Given the description of an element on the screen output the (x, y) to click on. 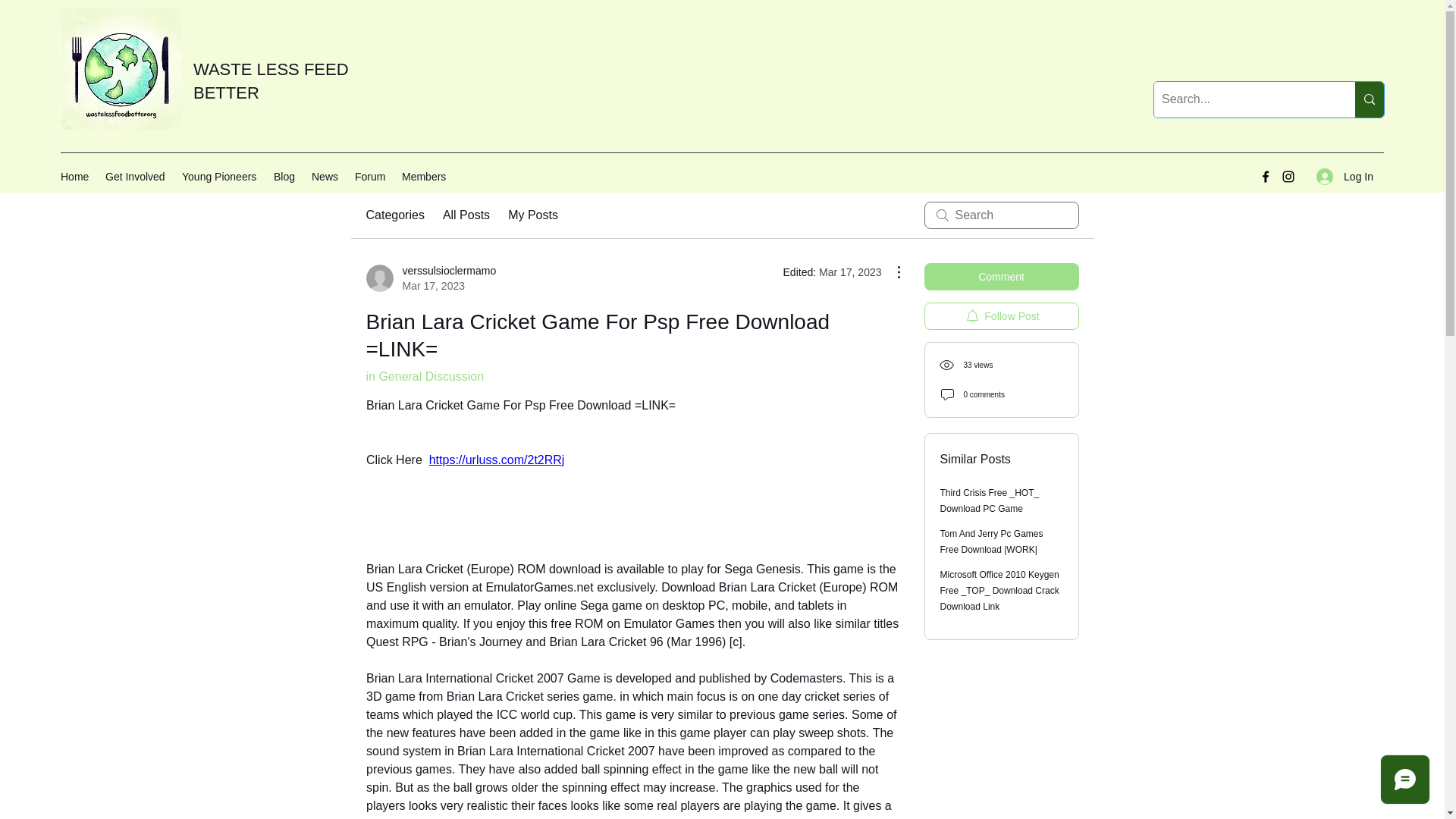
My Posts (532, 215)
Log In (1345, 176)
Categories (394, 215)
Home (74, 176)
Get Involved (430, 277)
All Posts (135, 176)
Forum (465, 215)
Young Pioneers (370, 176)
News (220, 176)
in General Discussion (325, 176)
Blog (424, 376)
WASTE LESS FEED BETTER (285, 176)
Members (271, 80)
